Given the description of an element on the screen output the (x, y) to click on. 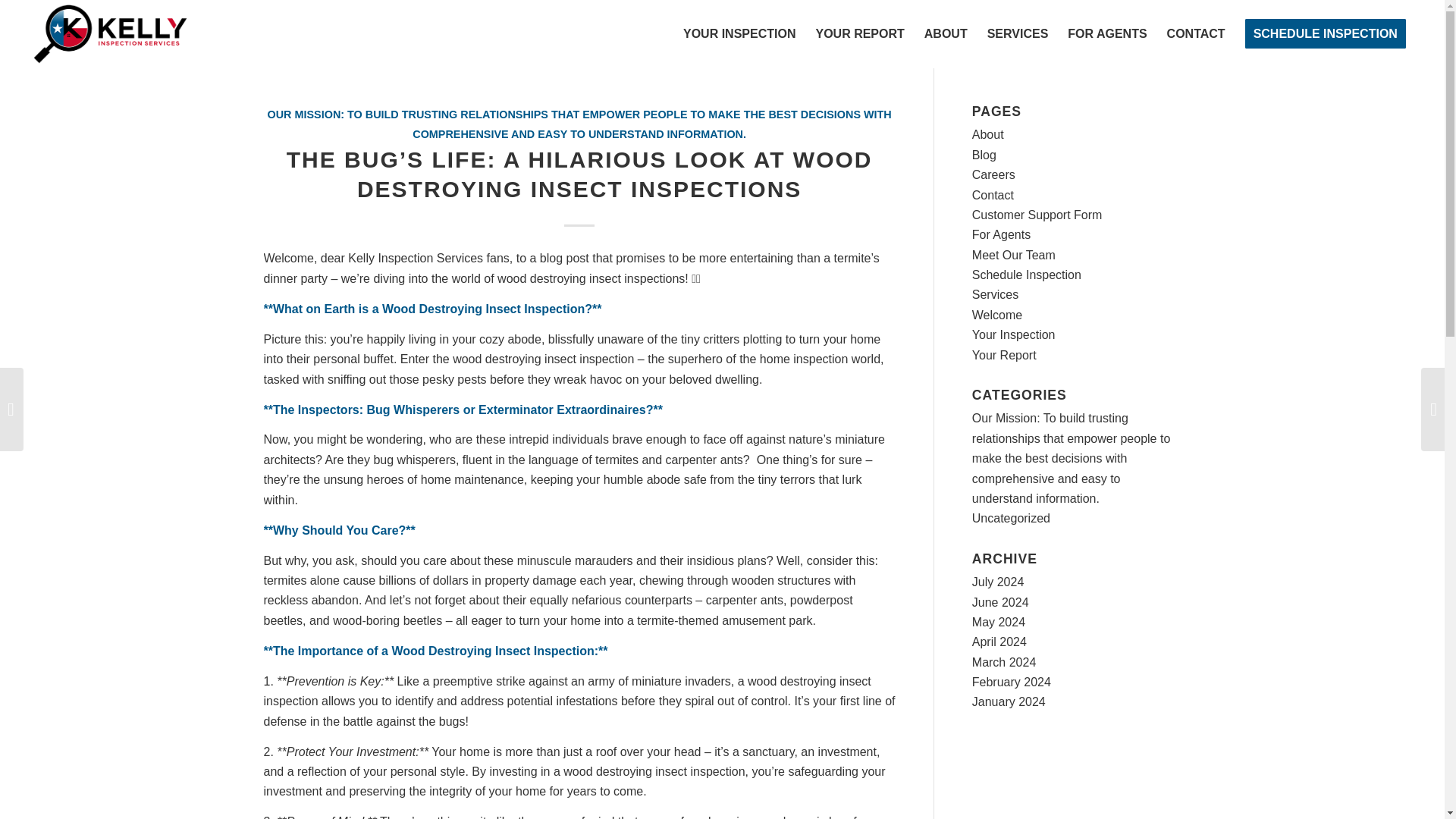
SERVICES (1017, 33)
Schedule Inspection (1026, 274)
ABOUT (945, 33)
Blog (983, 154)
SCHEDULE INSPECTION (1324, 33)
YOUR REPORT (859, 33)
FOR AGENTS (1107, 33)
Customer Support Form (1037, 214)
CONTACT (1195, 33)
Contact (992, 195)
YOUR INSPECTION (738, 33)
About (988, 133)
Services (994, 294)
Welcome (997, 314)
